Given the description of an element on the screen output the (x, y) to click on. 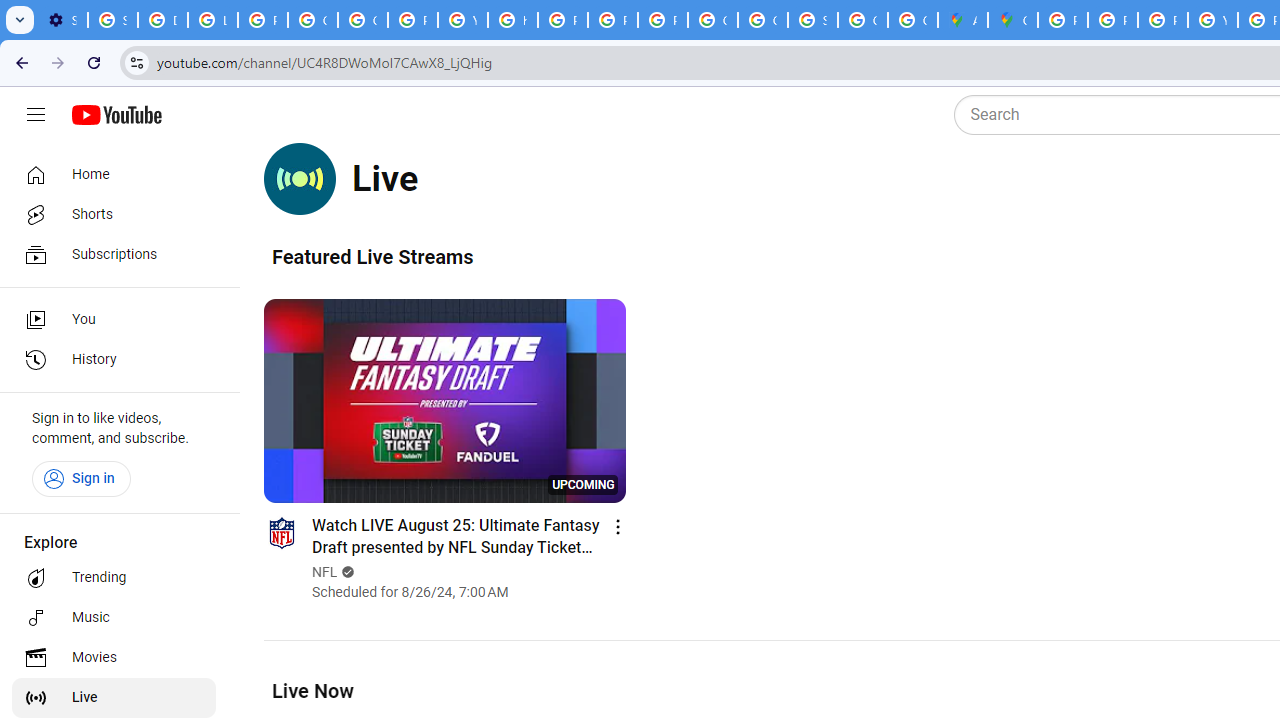
Live Now (312, 690)
Shorts (113, 214)
NFL (325, 572)
Music (113, 617)
https://scholar.google.com/ (512, 20)
Privacy Help Center - Policies Help (1162, 20)
Learn how to find your photos - Google Photos Help (213, 20)
